Given the description of an element on the screen output the (x, y) to click on. 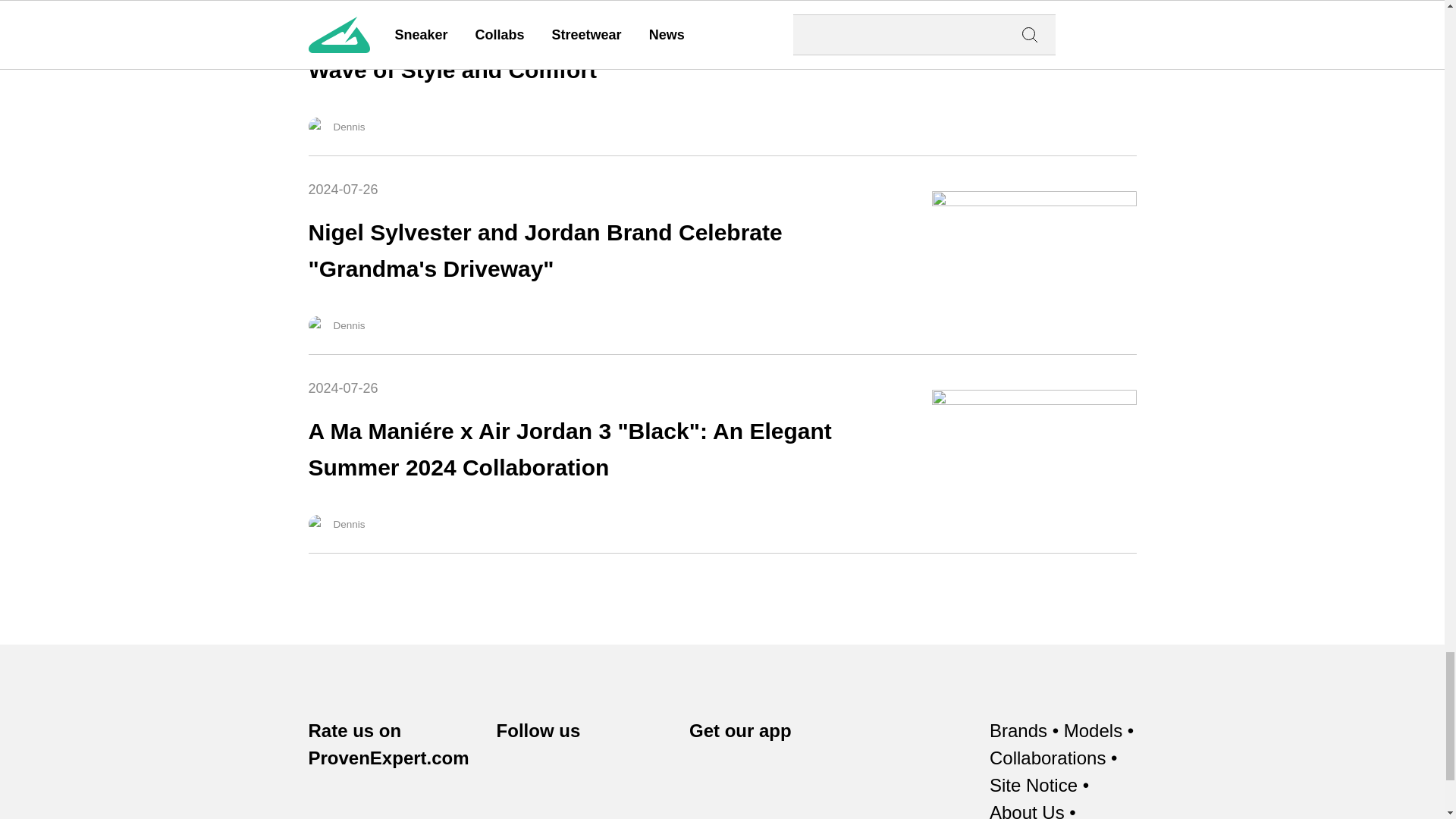
Dennis (316, 126)
Brands (1018, 730)
Dennis (316, 325)
About Us (1027, 809)
Site Notice (1033, 785)
Collaborations (1047, 758)
Dennis (316, 524)
Models (1093, 730)
